Given the description of an element on the screen output the (x, y) to click on. 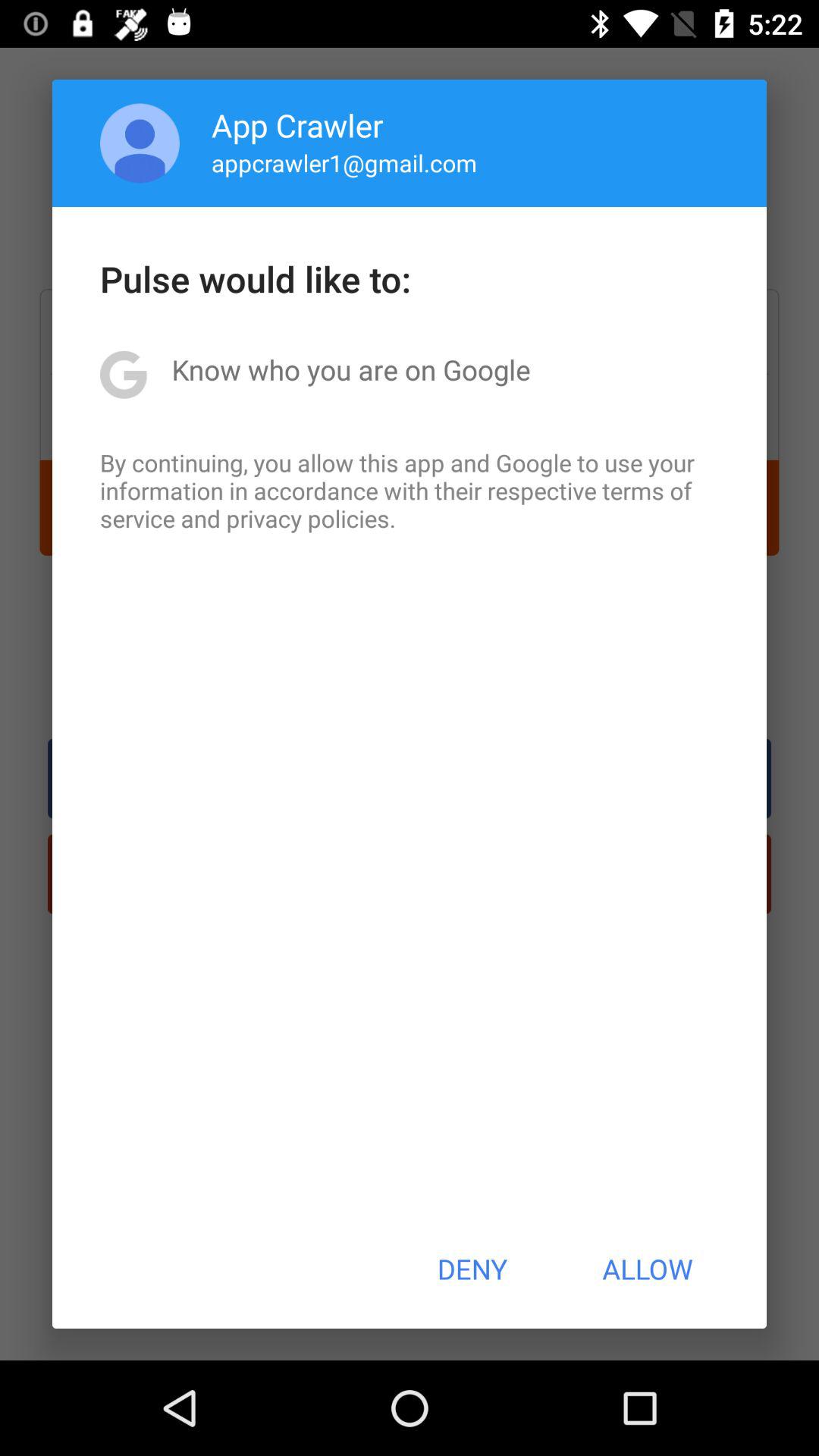
turn off item below the pulse would like item (350, 369)
